Given the description of an element on the screen output the (x, y) to click on. 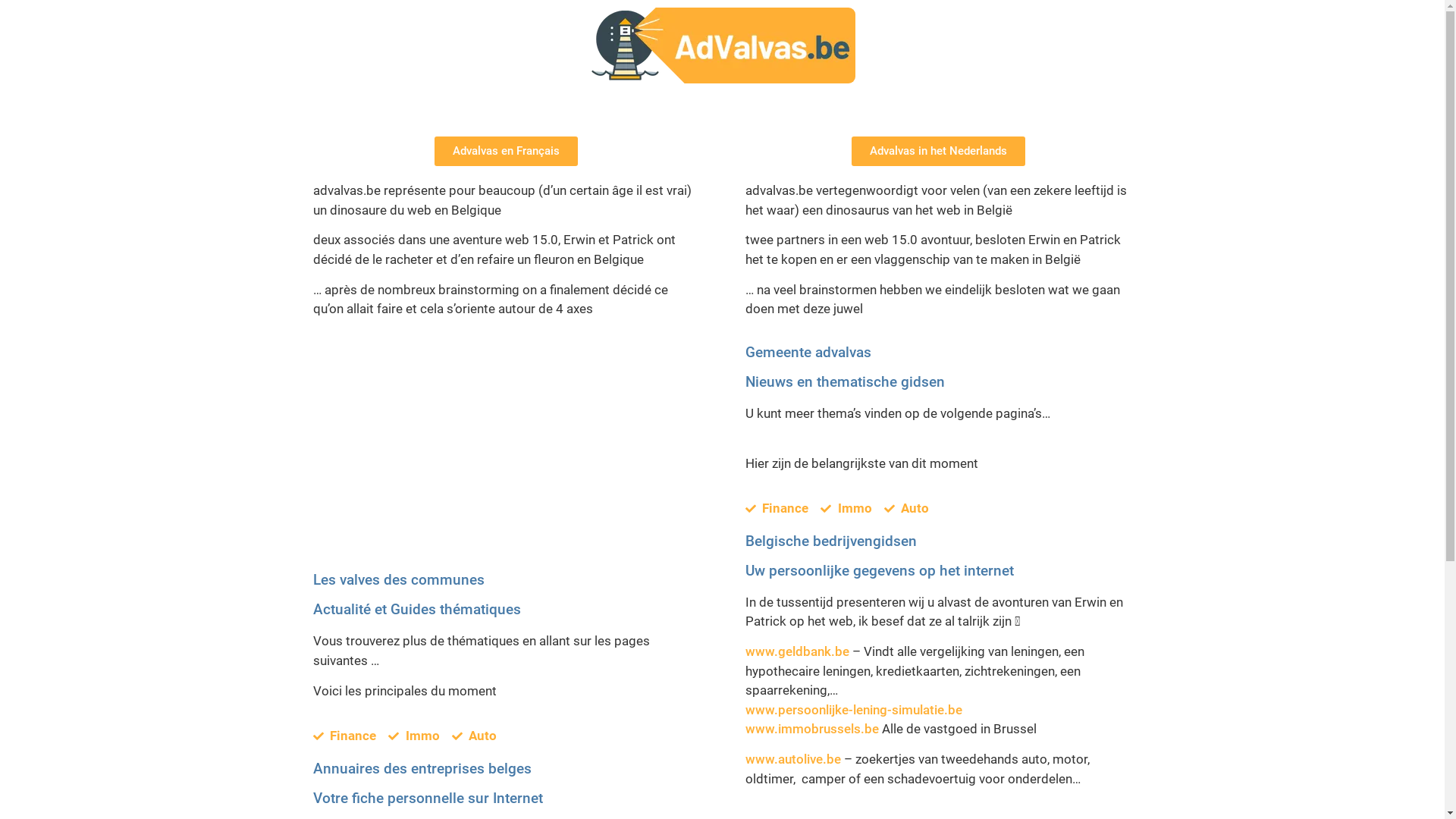
Finance Element type: text (344, 736)
Immo Element type: text (413, 736)
Advalvas in het Nederlands Element type: text (938, 151)
Auto Element type: text (906, 508)
Advertisement Element type: hover (505, 458)
Finance Element type: text (776, 508)
www.immobrussels.be Element type: text (811, 728)
www.autolive.be Element type: text (792, 758)
www.geldbank.be Element type: text (796, 650)
www.persoonlijke-lening-simulatie.be Element type: text (852, 709)
Auto Element type: text (474, 736)
Immo Element type: text (846, 508)
